Given the description of an element on the screen output the (x, y) to click on. 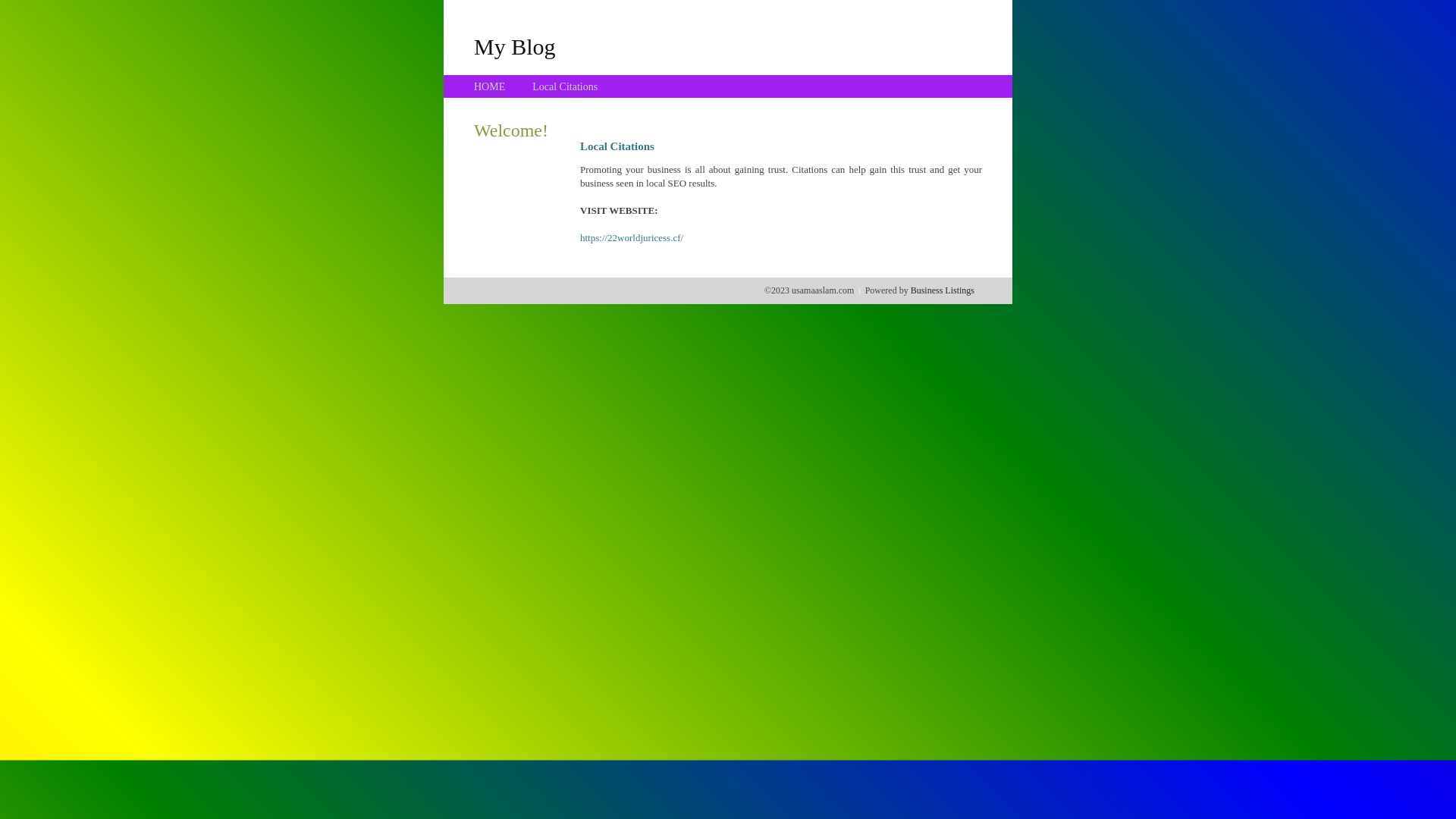
https://22worldjuricess.cf/ Element type: text (631, 237)
My Blog Element type: text (514, 46)
HOME Element type: text (489, 86)
Business Listings Element type: text (942, 290)
Local Citations Element type: text (564, 86)
